Given the description of an element on the screen output the (x, y) to click on. 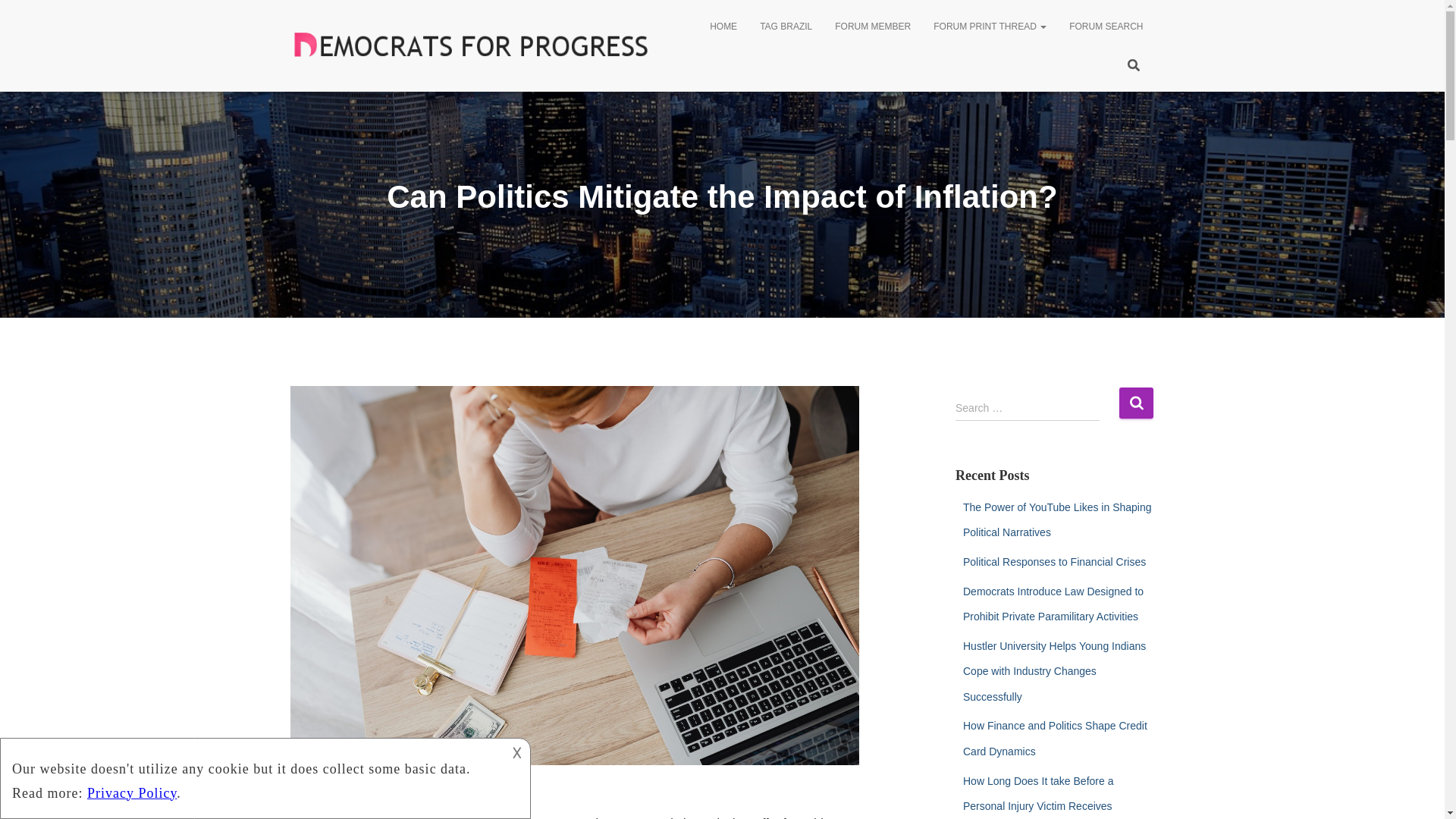
Forum Search (1106, 26)
Democrats for Financial Progress (470, 44)
The Power of YouTube Likes in Shaping Political Narratives (1056, 519)
Tag Brazil (786, 26)
Forum Print Thread (989, 26)
Search (1136, 402)
Search (1136, 402)
Forum Member (872, 26)
FORUM MEMBER (872, 26)
How Finance and Politics Shape Credit Card Dynamics (1054, 738)
Search (1136, 402)
FORUM SEARCH (1106, 26)
HOME (723, 26)
